Given the description of an element on the screen output the (x, y) to click on. 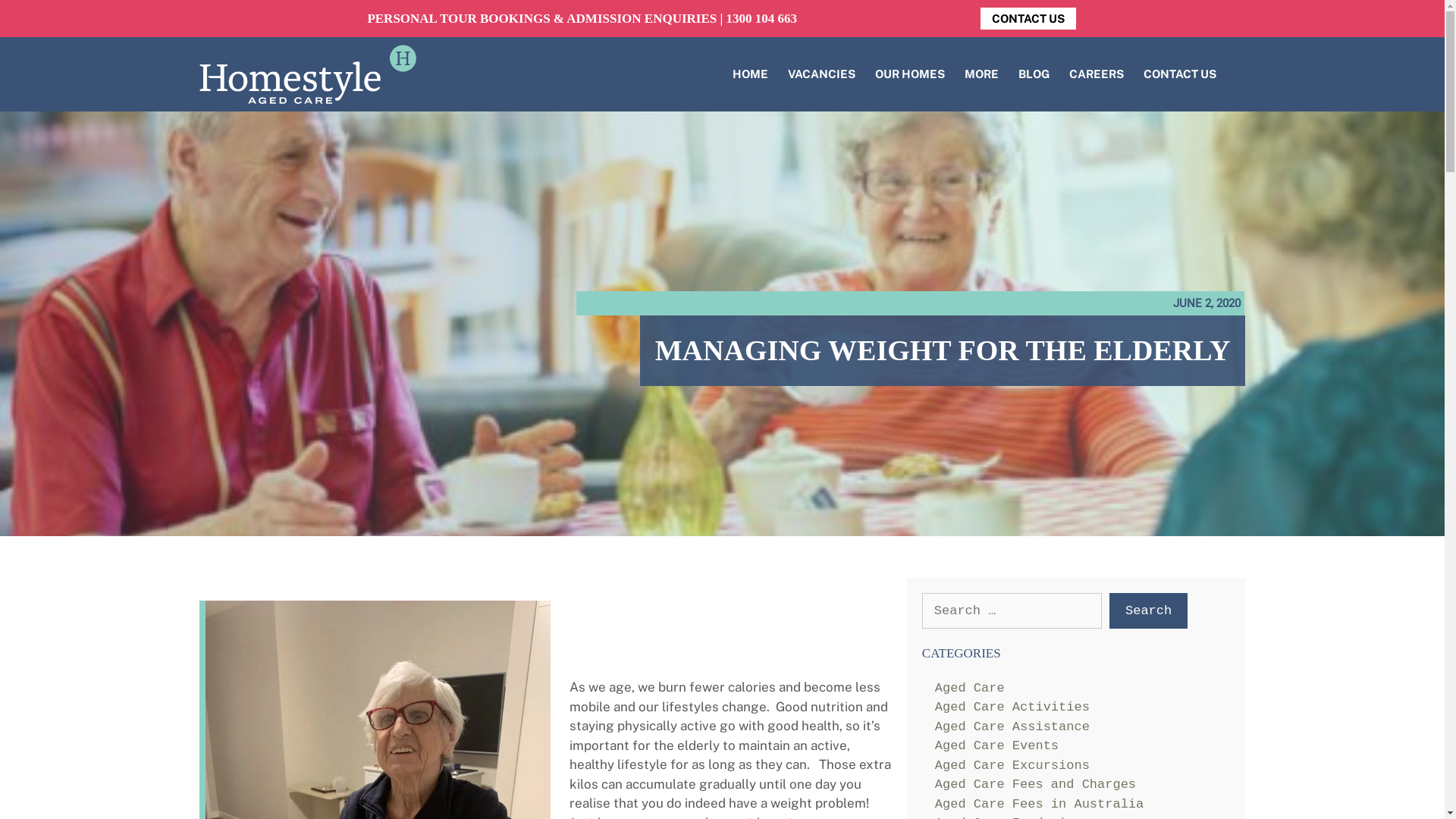
Aged Care Fees and Charges Element type: text (1035, 784)
Aged Care Events Element type: text (996, 745)
CONTACT US Element type: text (1179, 74)
Aged Care Excursions Element type: text (1012, 765)
Aged Care Element type: text (969, 687)
Search for: Element type: hover (1011, 611)
VACANCIES Element type: text (821, 74)
CONTACT US Element type: text (1028, 18)
Aged Care Activities Element type: text (1012, 706)
MORE Element type: text (981, 74)
Aged Care Assistance Element type: text (1012, 726)
OUR HOMES Element type: text (909, 74)
BLOG Element type: text (1033, 74)
HOME Element type: text (750, 74)
Aged Care Fees in Australia Element type: text (1039, 804)
CAREERS Element type: text (1096, 74)
Search Element type: text (1148, 611)
1300 104 663 Element type: text (761, 18)
